Given the description of an element on the screen output the (x, y) to click on. 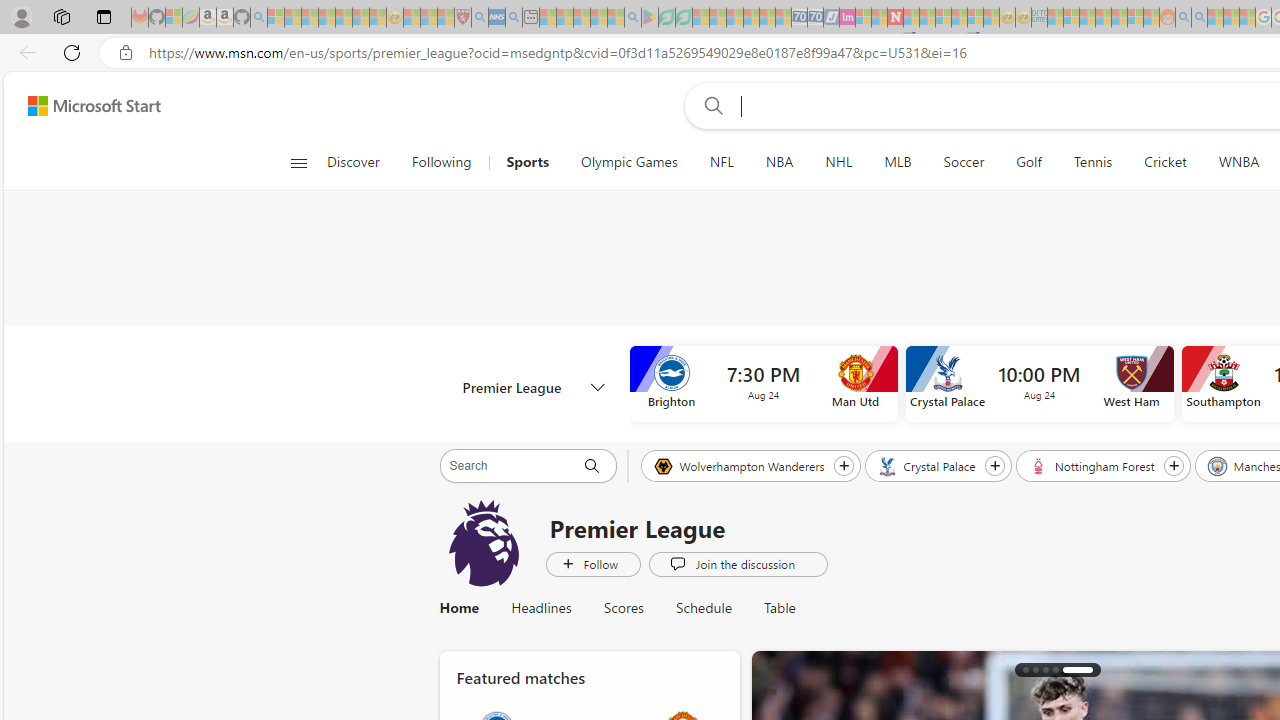
Scores (623, 607)
Tennis (1092, 162)
Table (780, 607)
NHL (838, 162)
